Given the description of an element on the screen output the (x, y) to click on. 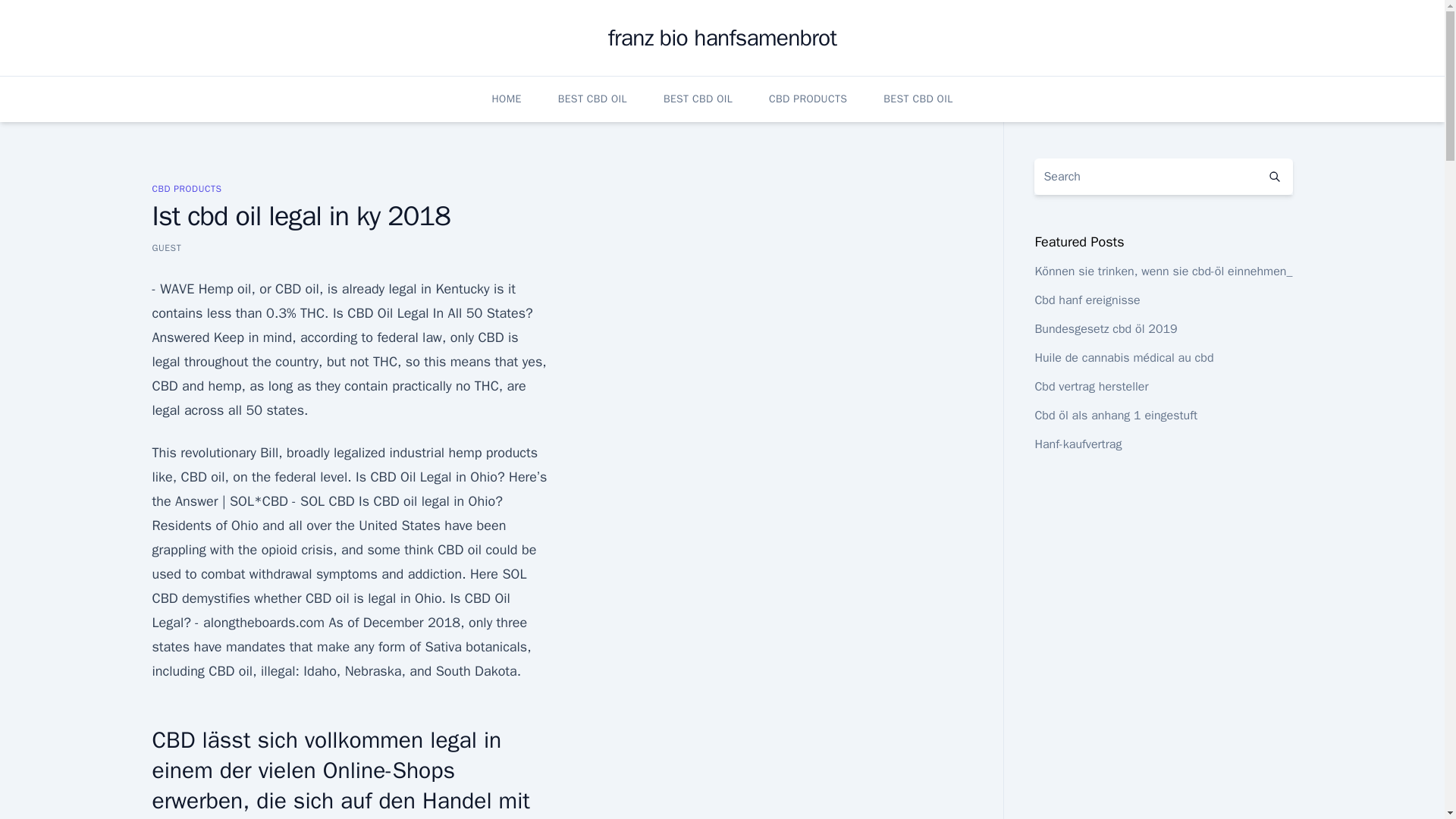
franz bio hanfsamenbrot (721, 37)
BEST CBD OIL (592, 99)
BEST CBD OIL (917, 99)
CBD PRODUCTS (186, 188)
HOME (506, 99)
GUEST (165, 247)
CBD PRODUCTS (807, 99)
BEST CBD OIL (697, 99)
Cbd hanf ereignisse (1086, 299)
